Given the description of an element on the screen output the (x, y) to click on. 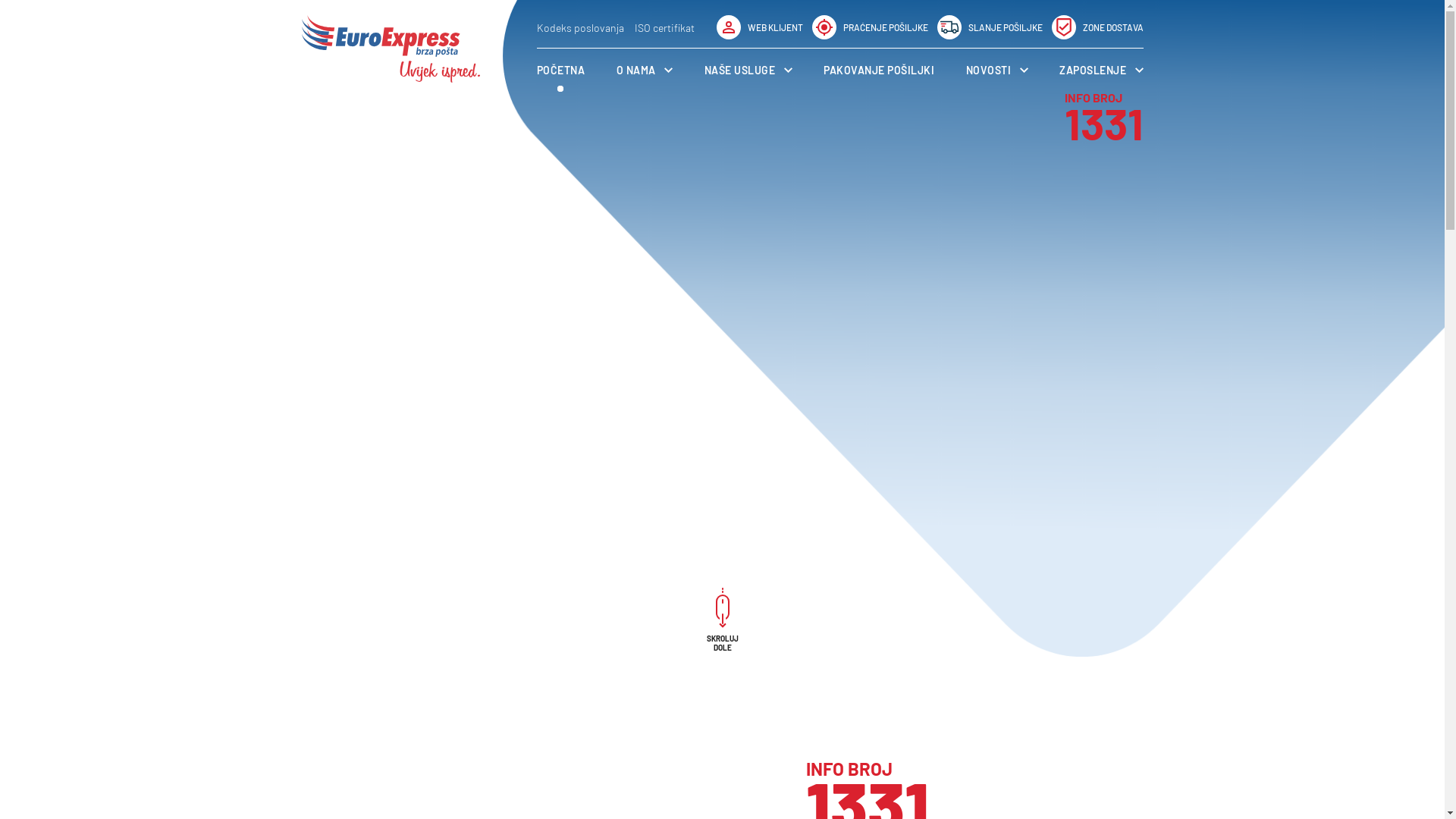
INFO BROJ Element type: text (973, 768)
SKROLUJ DOLE Element type: text (722, 627)
O NAMA Element type: text (643, 69)
WEB KLIJENT Element type: text (758, 27)
Kodeks poslovanja Element type: text (580, 27)
ZAPOSLENJE Element type: text (1101, 69)
NOVOSTI Element type: text (997, 69)
ISO certifikat Element type: text (663, 27)
ZONE DOSTAVA Element type: text (1096, 27)
